Given the description of an element on the screen output the (x, y) to click on. 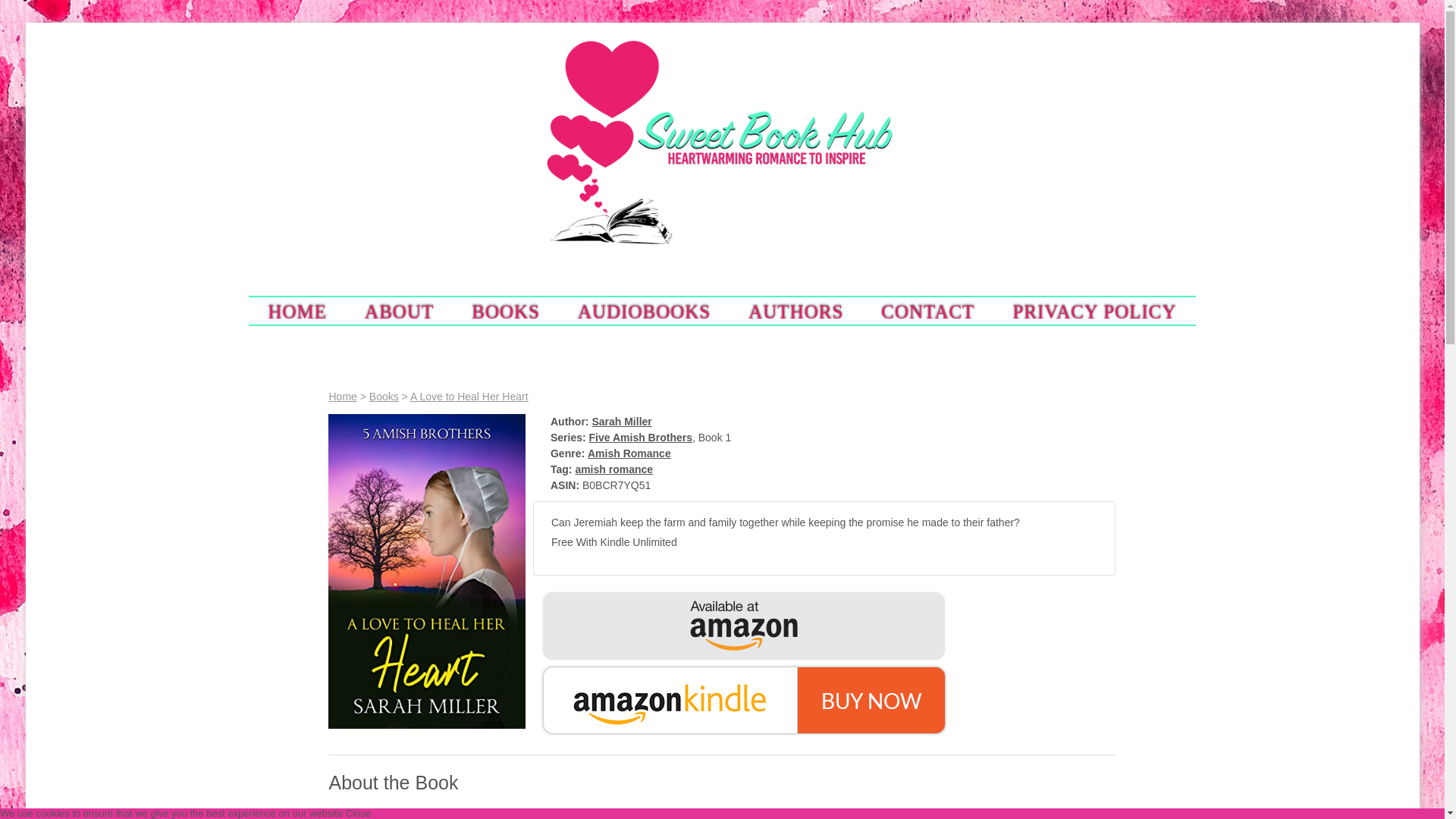
Sarah Miller (620, 421)
HOME (297, 310)
Amish Romance (629, 453)
amish romance (613, 469)
CONTACT (926, 310)
A Love to Heal Her Heart (469, 396)
Five Amish Brothers (641, 437)
BOOKS (505, 310)
Home (342, 396)
